Given the description of an element on the screen output the (x, y) to click on. 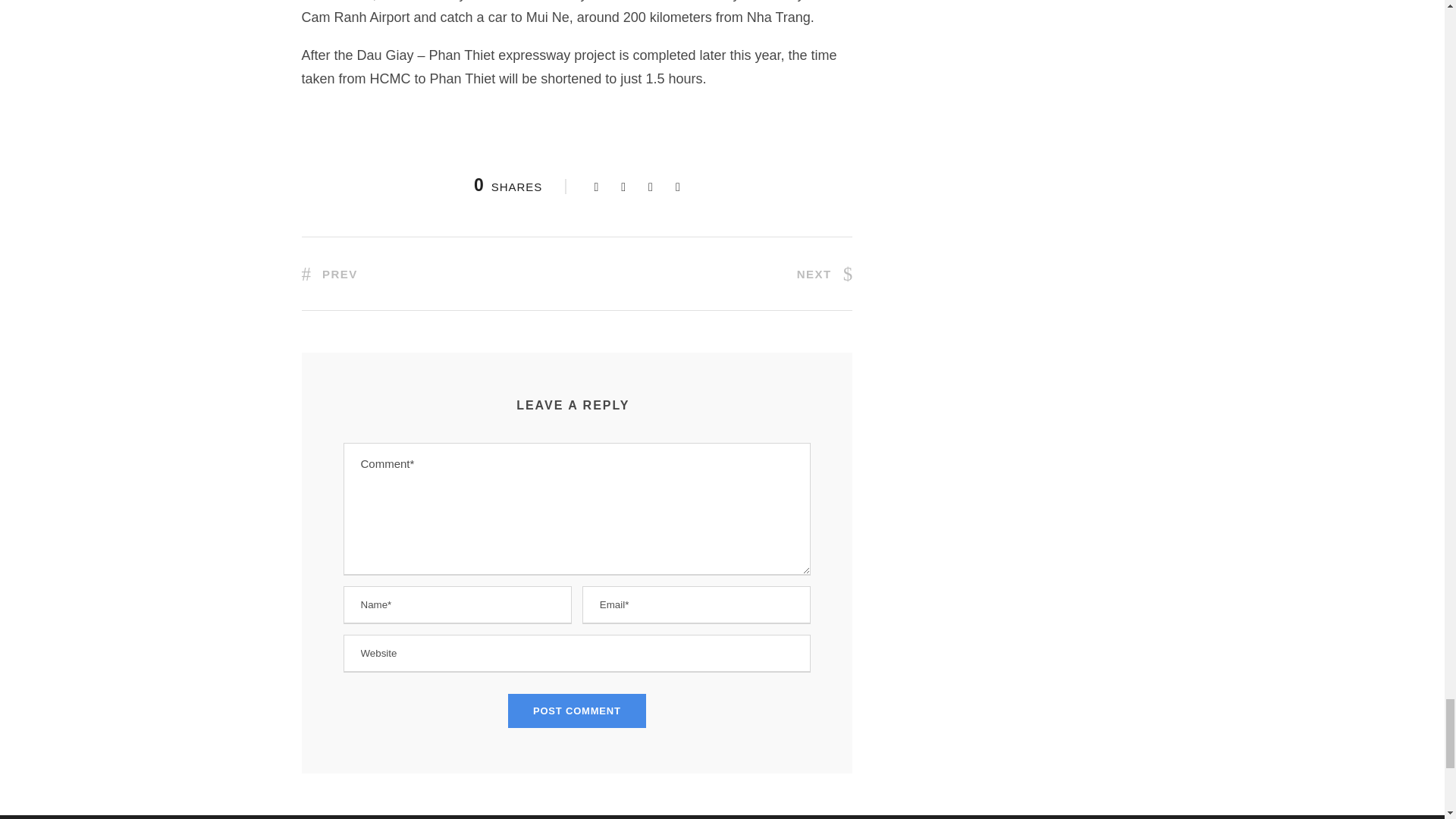
Post Comment (577, 710)
